Given the description of an element on the screen output the (x, y) to click on. 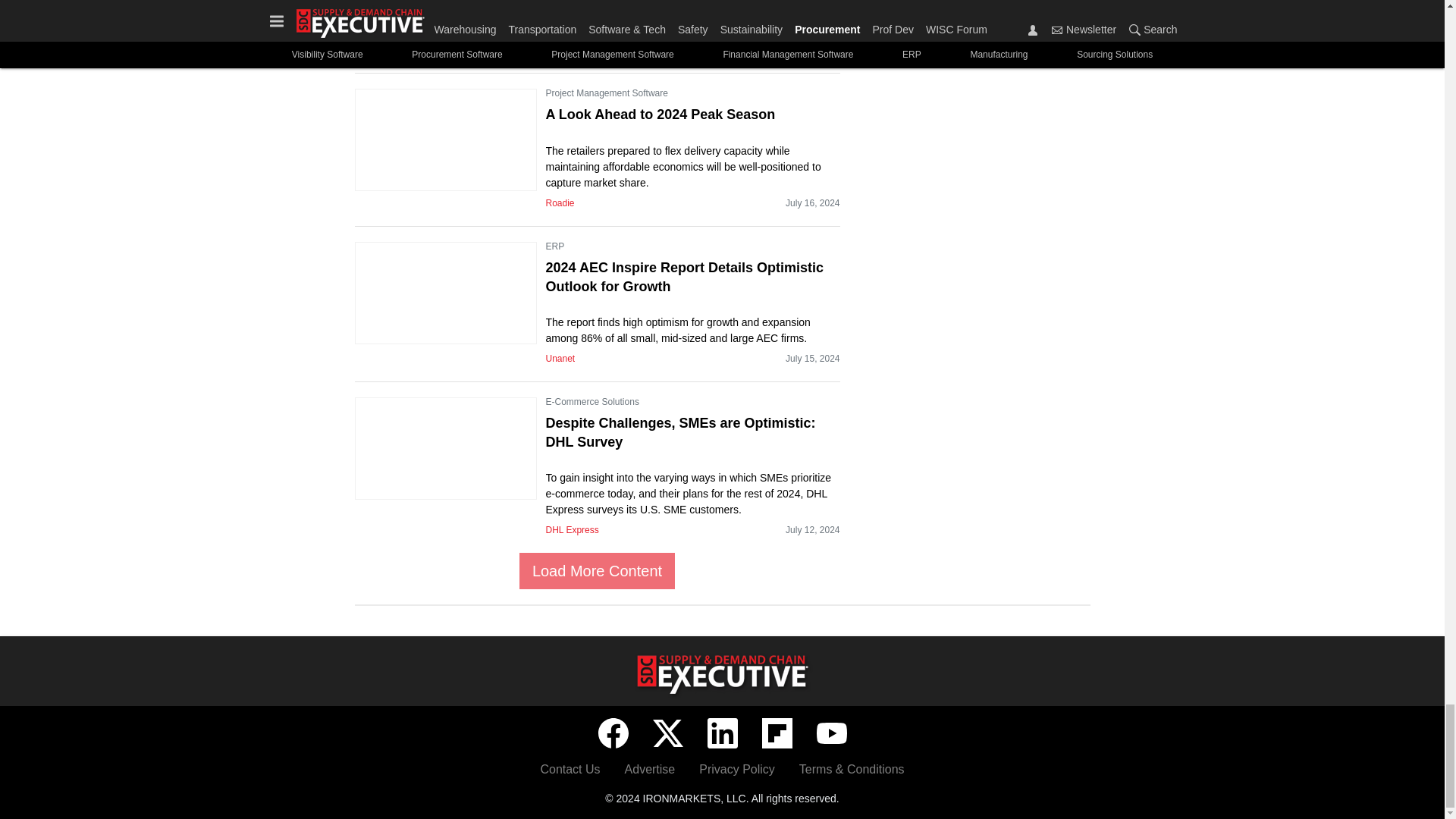
LinkedIn icon (721, 733)
Twitter X icon (667, 733)
Facebook icon (611, 733)
YouTube icon (830, 733)
Flipboard icon (776, 733)
